Given the description of an element on the screen output the (x, y) to click on. 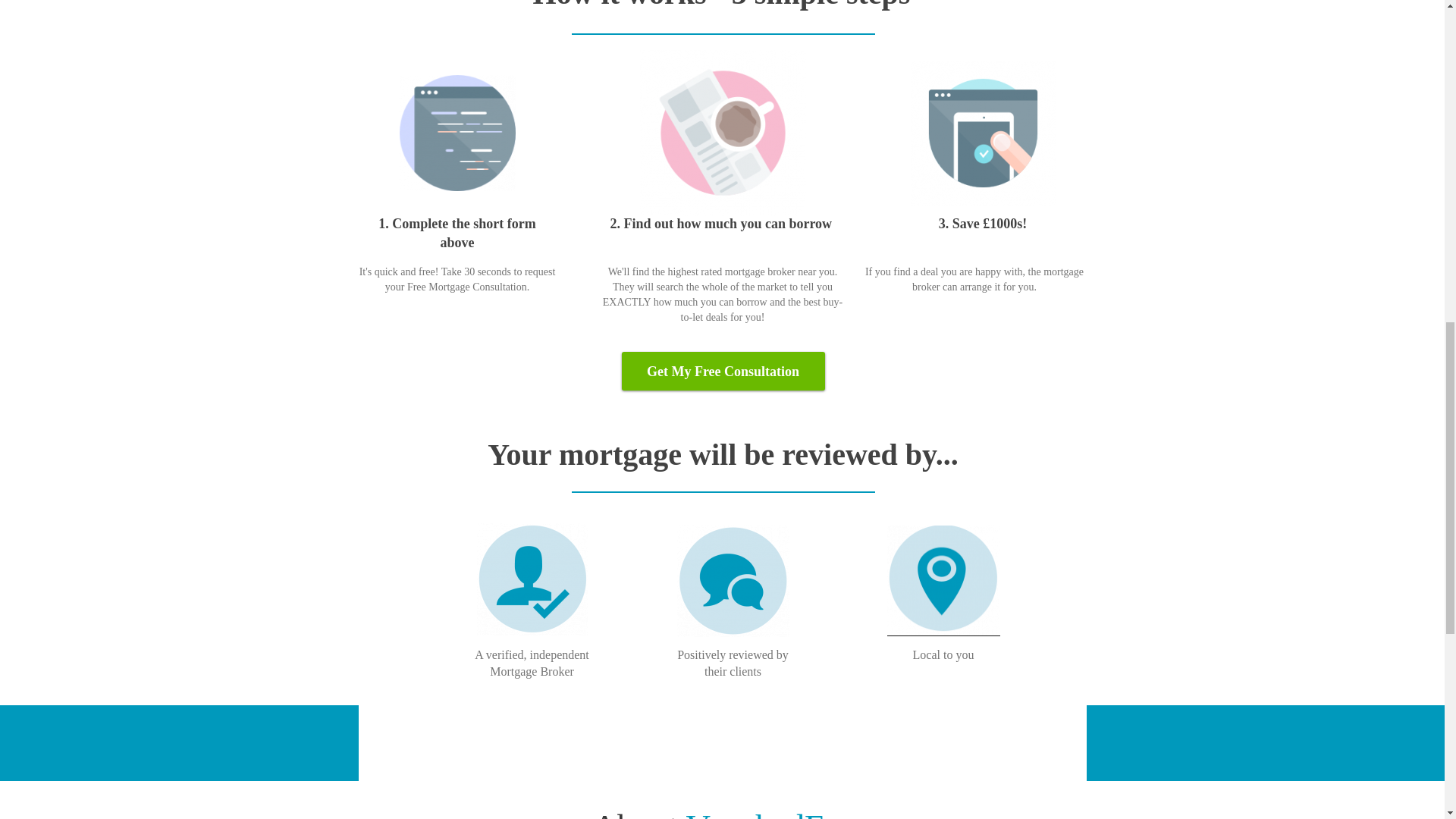
Get My Free Consultation (723, 387)
0330 038 9260 (862, 742)
Get My Free Consultation (723, 387)
